Given the description of an element on the screen output the (x, y) to click on. 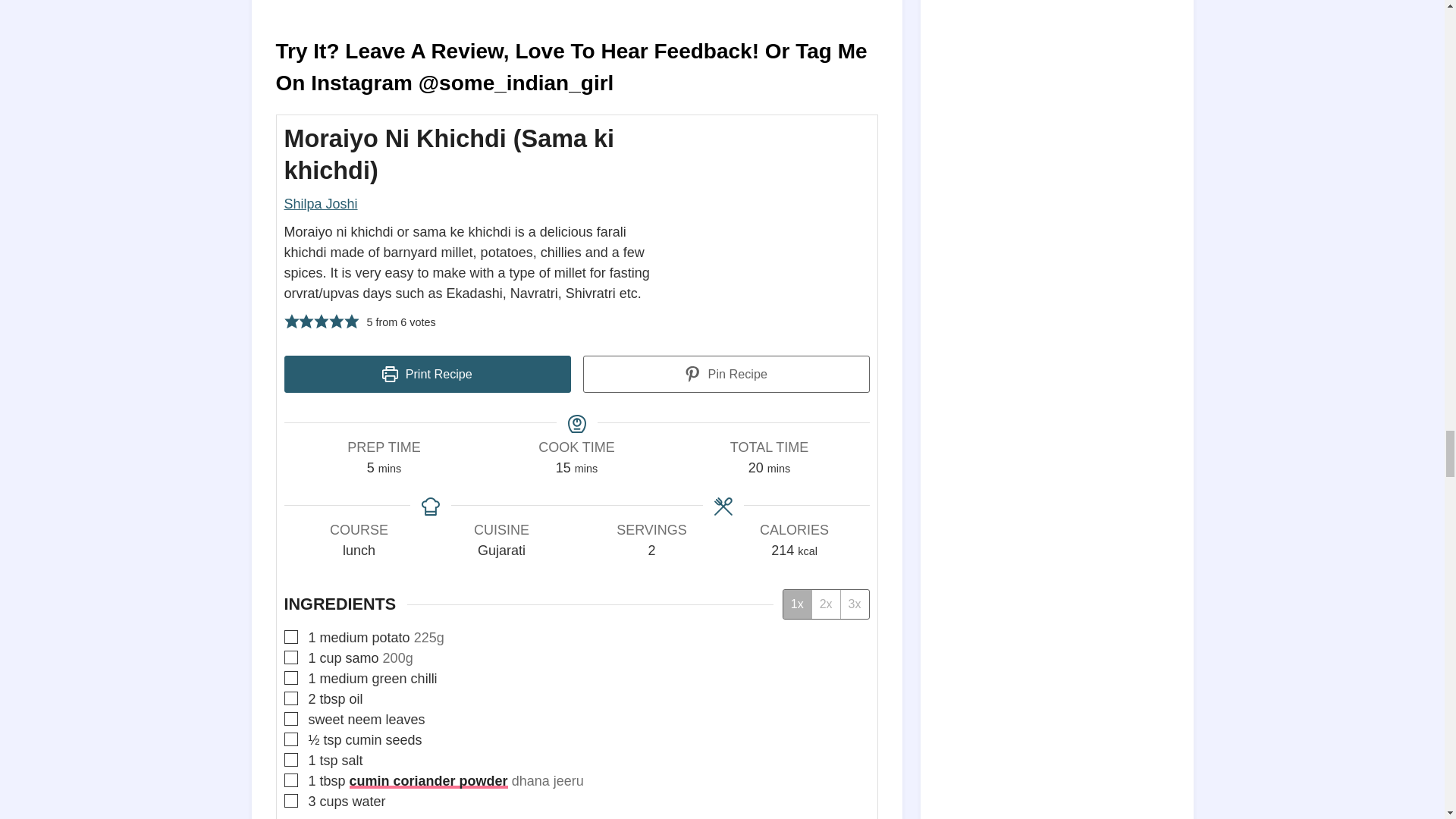
Shilpa Joshi (319, 203)
Print Recipe (426, 374)
Pin Recipe (725, 374)
1x (796, 604)
